Given the description of an element on the screen output the (x, y) to click on. 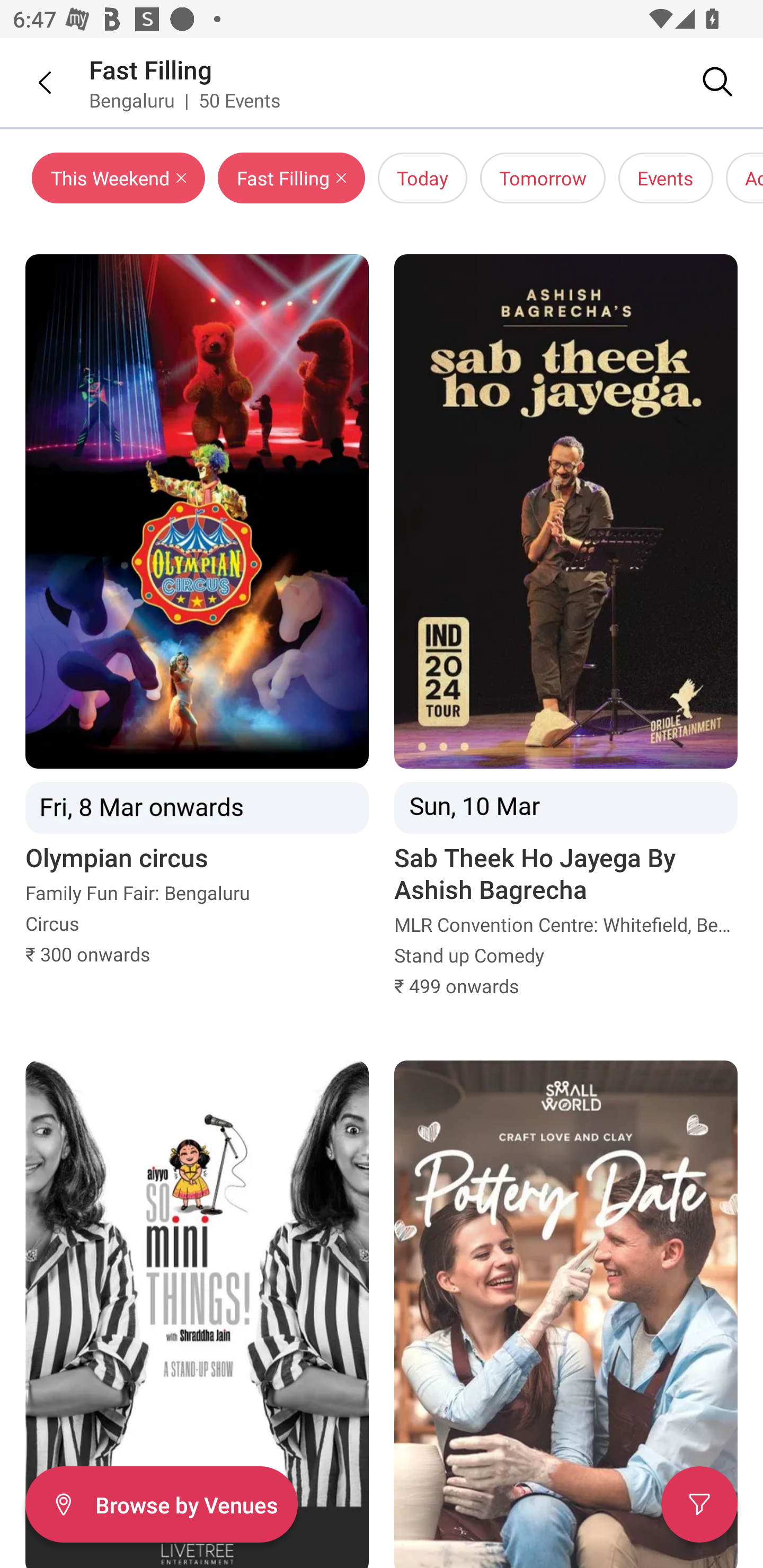
Back (31, 82)
Fast Filling (150, 68)
Bengaluru  |  50 Events (185, 99)
This Weekend Close (118, 177)
Fast Filling Close (290, 177)
Today (421, 177)
Tomorrow (542, 177)
Events (665, 177)
Filter Browse by Venues (161, 1504)
Filter (699, 1504)
